Given the description of an element on the screen output the (x, y) to click on. 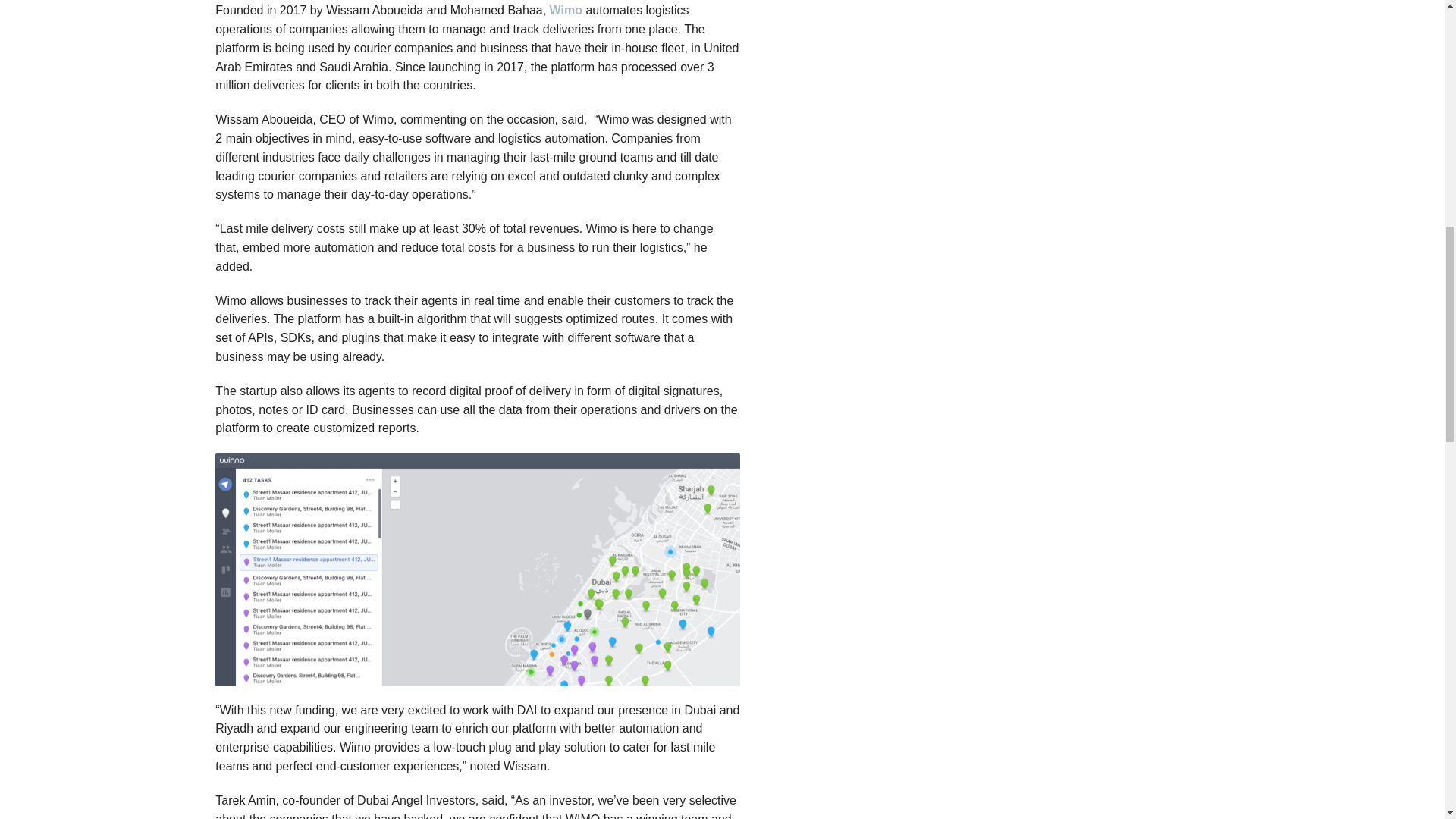
Wimo (566, 10)
